Given the description of an element on the screen output the (x, y) to click on. 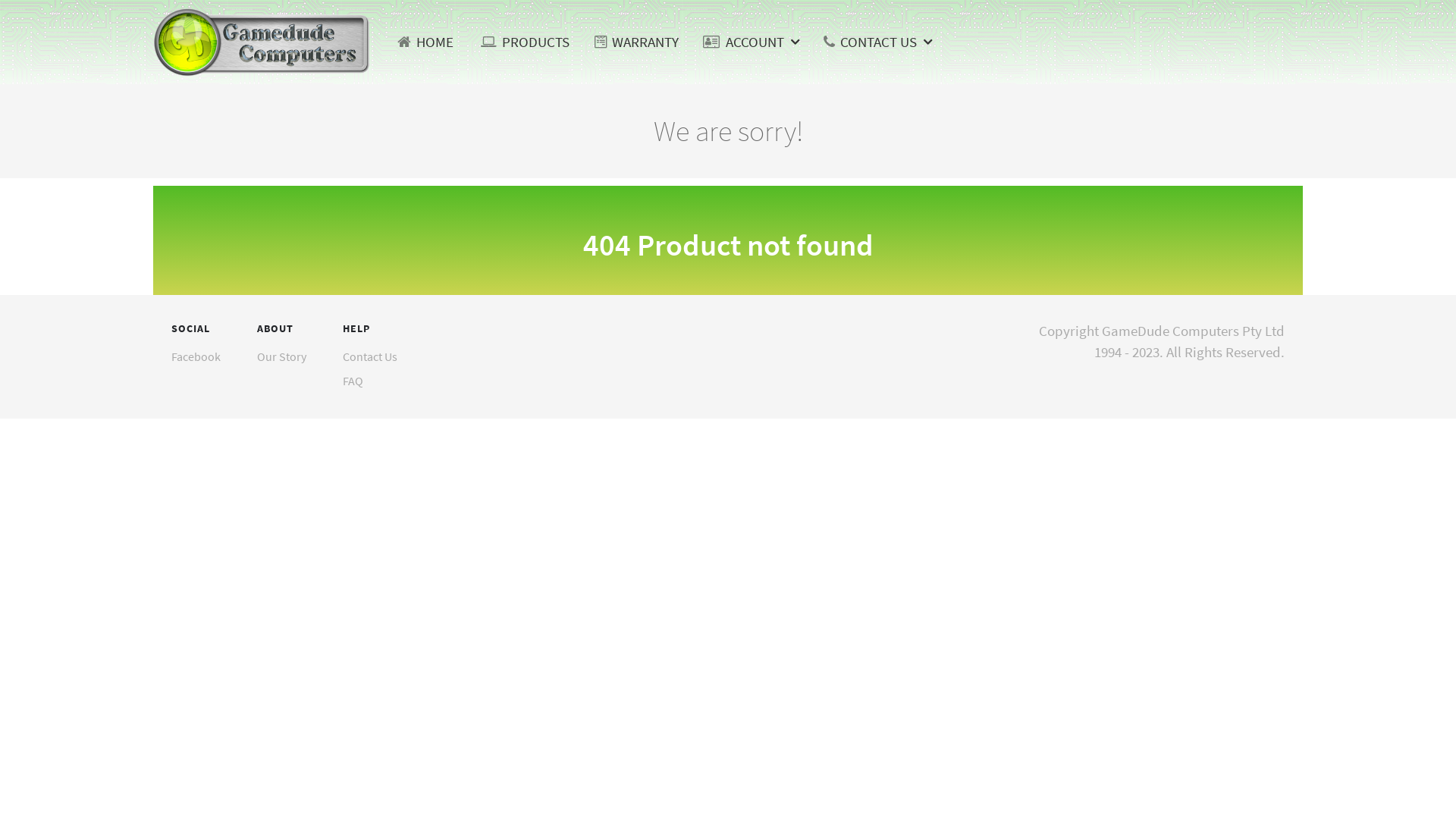
CONTACT US Element type: text (877, 41)
HOME Element type: text (424, 41)
Our Story Element type: text (281, 356)
WARRANTY Element type: text (636, 41)
ACCOUNT Element type: text (751, 41)
GameDude Computers Element type: hover (261, 39)
FAQ Element type: text (352, 380)
Contact Us Element type: text (369, 356)
Facebook Element type: text (195, 356)
PRODUCTS Element type: text (524, 41)
